Given the description of an element on the screen output the (x, y) to click on. 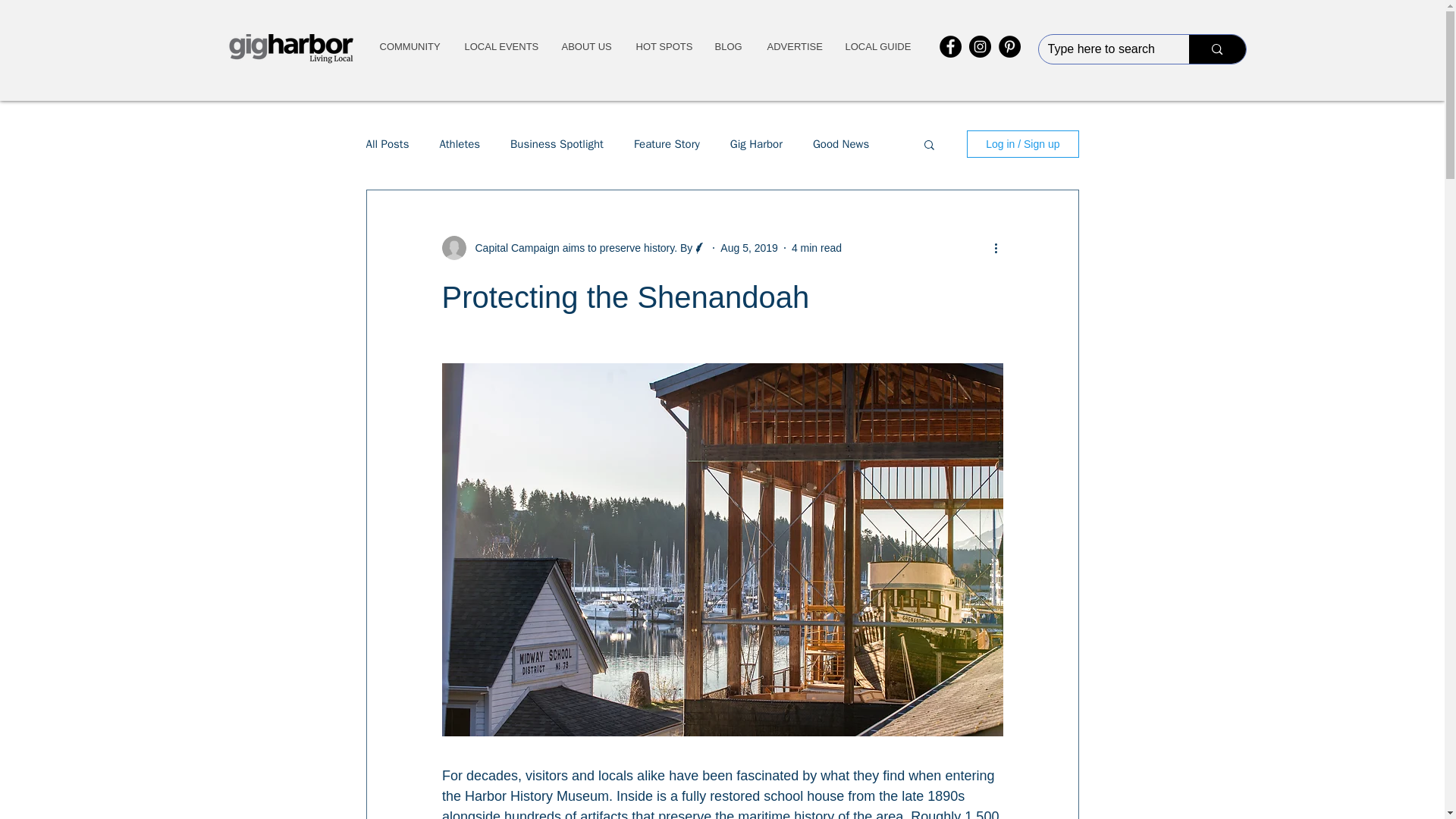
BLOG (727, 46)
Gig Harbor (756, 143)
4 min read (816, 246)
Athletes (459, 143)
Aug 5, 2019 (748, 246)
Feature Story (666, 143)
Good News (840, 143)
Capital Campaign aims to preserve history. By (579, 247)
All Posts (387, 143)
HOT SPOTS (662, 46)
ADVERTISE (793, 46)
LOCAL GUIDE (877, 46)
Business Spotlight (557, 143)
LOCAL EVENTS (499, 46)
ABOUT US (585, 46)
